Given the description of an element on the screen output the (x, y) to click on. 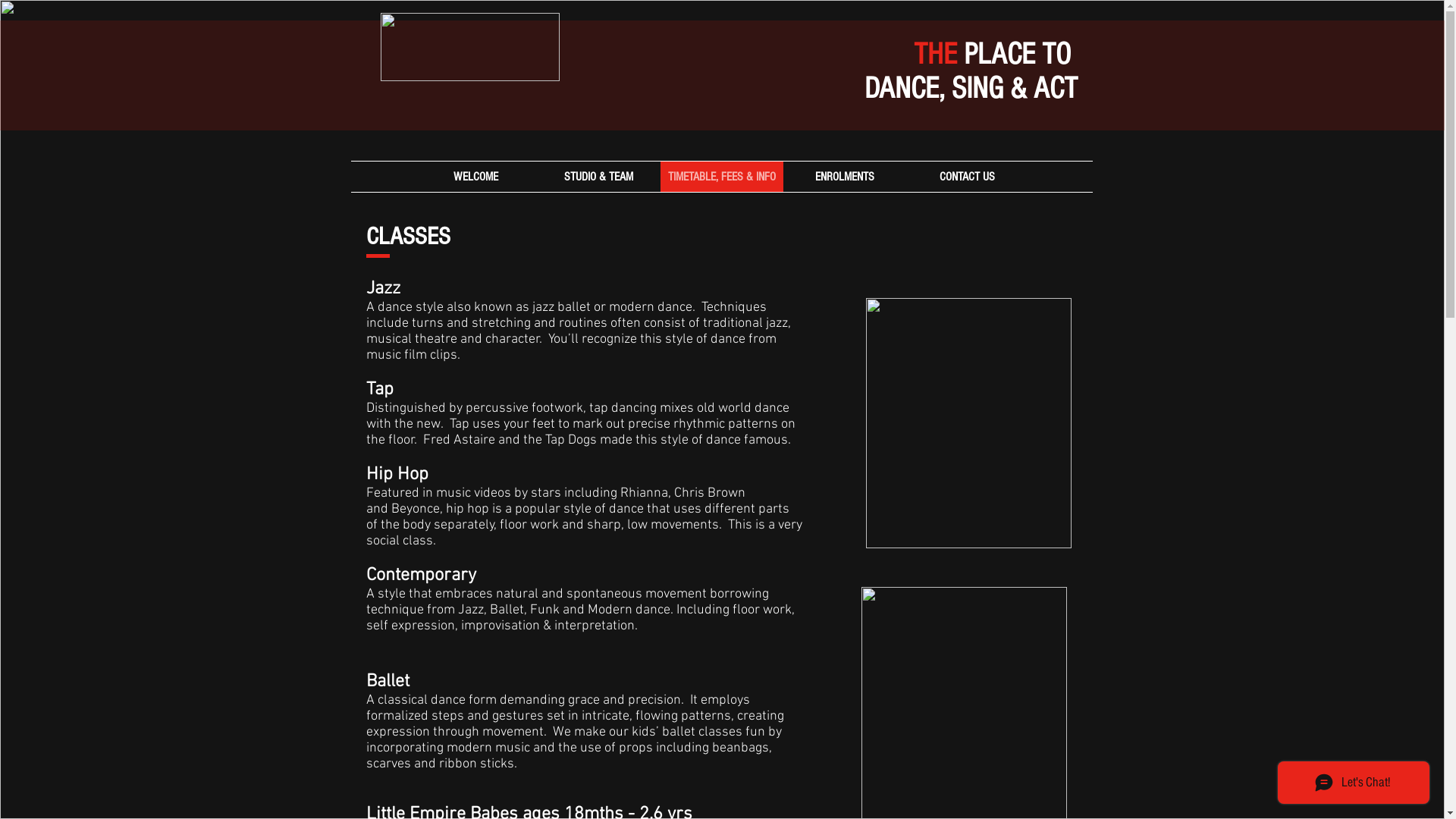
ENROLMENTS Element type: text (843, 176)
TIMETABLE, FEES & INFO Element type: text (720, 176)
WELCOME Element type: text (475, 176)
CONTACT US Element type: text (966, 176)
STUDIO & TEAM Element type: text (597, 176)
